Given the description of an element on the screen output the (x, y) to click on. 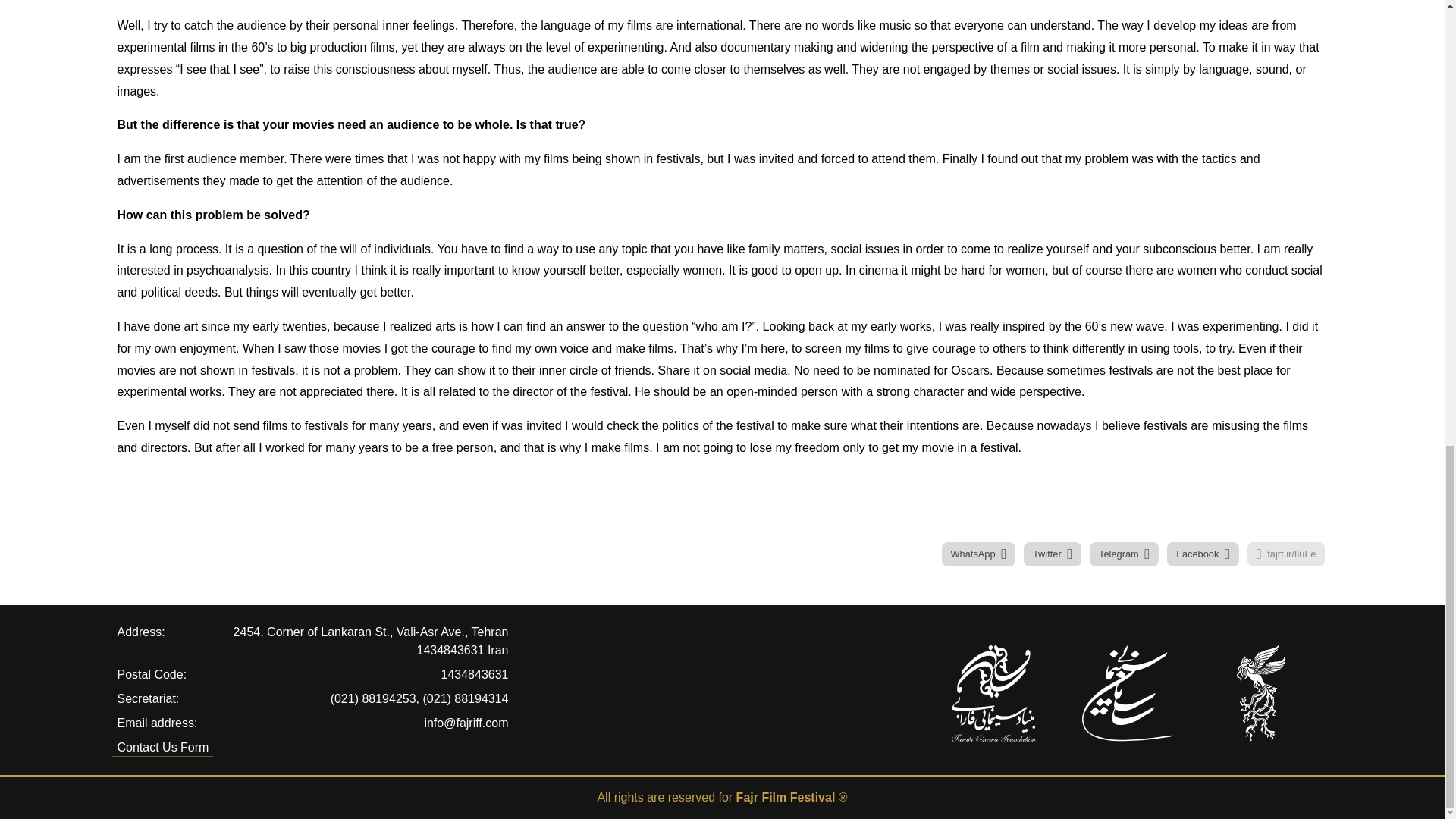
Share on Facebook (1203, 554)
Share on WhatsApp (979, 554)
Share on Twitter (1052, 554)
Share on Telegram (1123, 554)
